Given the description of an element on the screen output the (x, y) to click on. 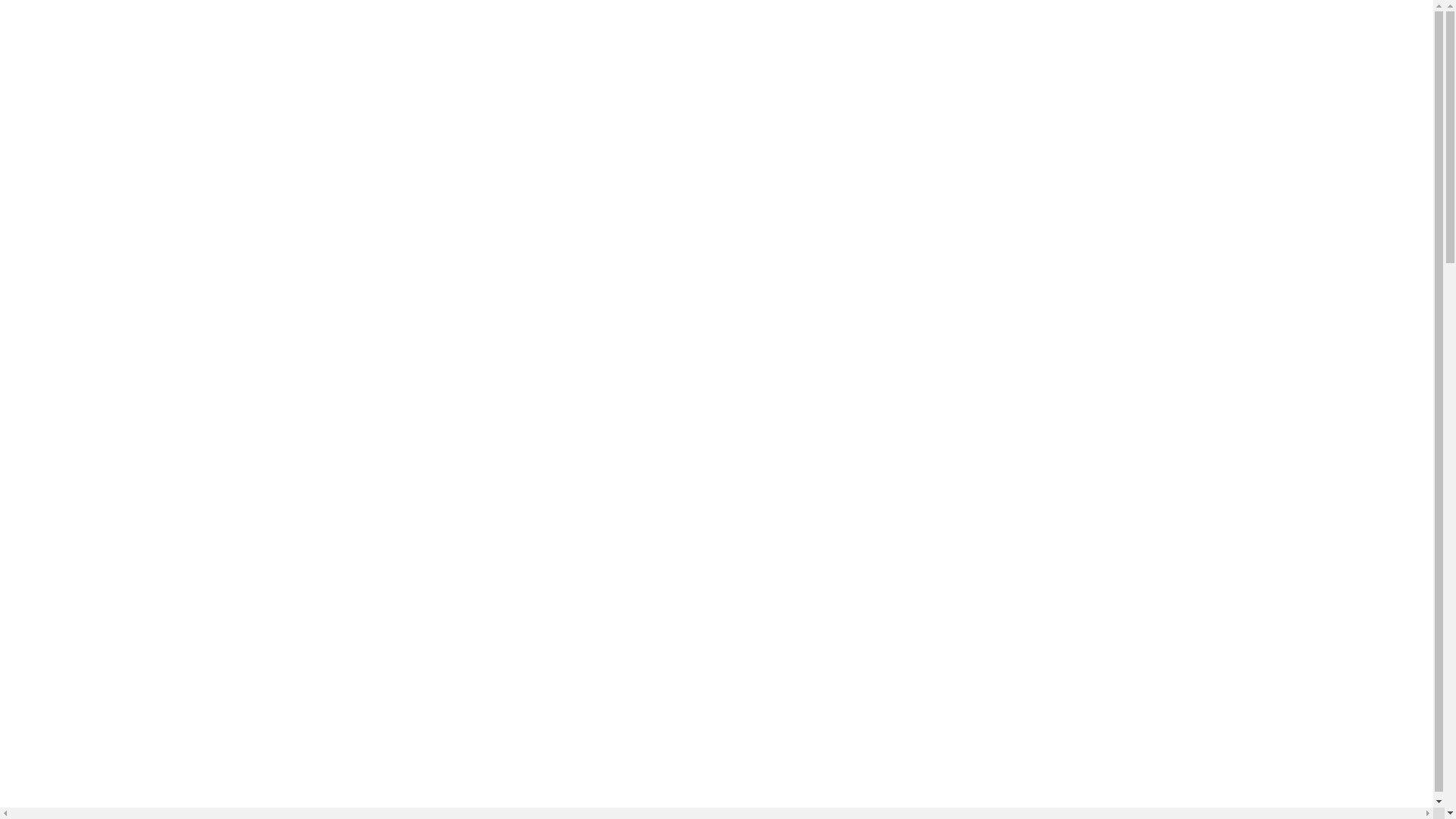
English Element type: text (1229, 12)
